Given the description of an element on the screen output the (x, y) to click on. 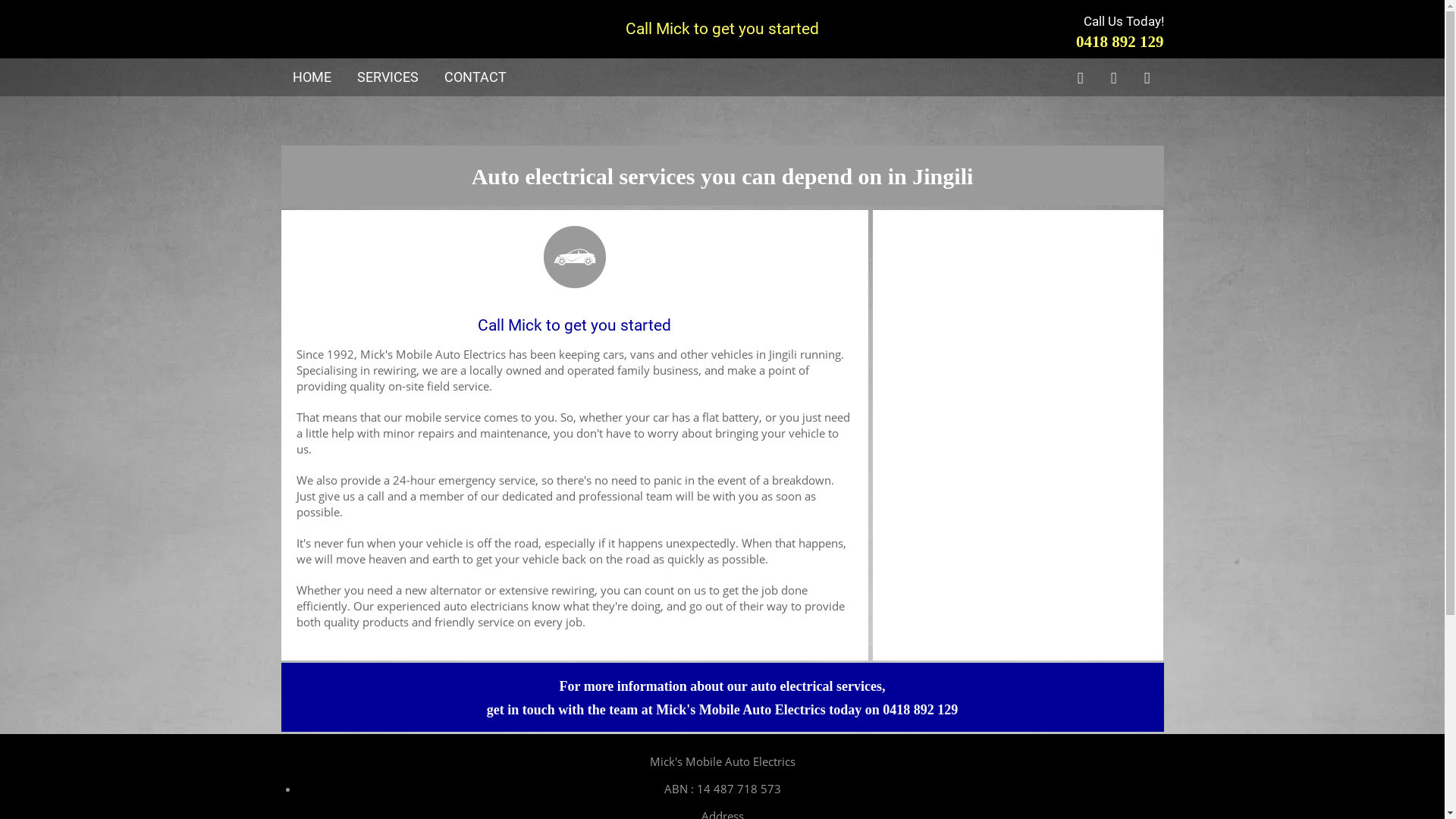
0418 892 129 Element type: text (919, 709)
0418 892 129 Element type: text (1120, 41)
SERVICES Element type: text (386, 77)
micks mobile auto electrics car service icon Element type: hover (573, 251)
HOME Element type: text (311, 77)
CONTACT Element type: text (475, 77)
